Given the description of an element on the screen output the (x, y) to click on. 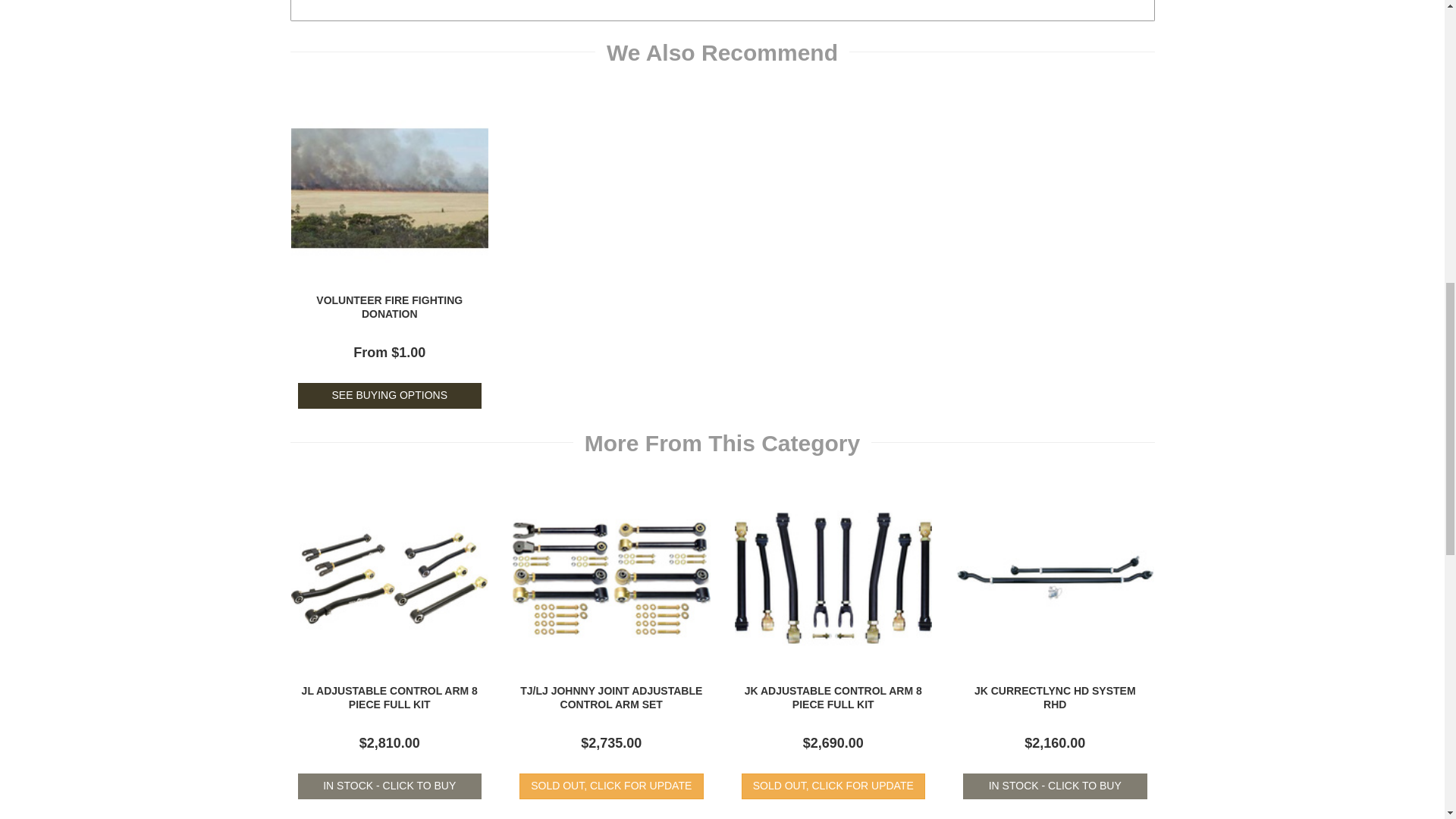
JK Adjustable Control Arm 8 piece full kit (832, 697)
JK Currectlync HD System RHD (1054, 697)
Add to Cart (1054, 786)
Volunteer Fire Fighting Donation (389, 307)
JL Adjustable Control Arm 8 piece full kit (389, 697)
Buying Options (389, 395)
Add to Cart (389, 786)
